Given the description of an element on the screen output the (x, y) to click on. 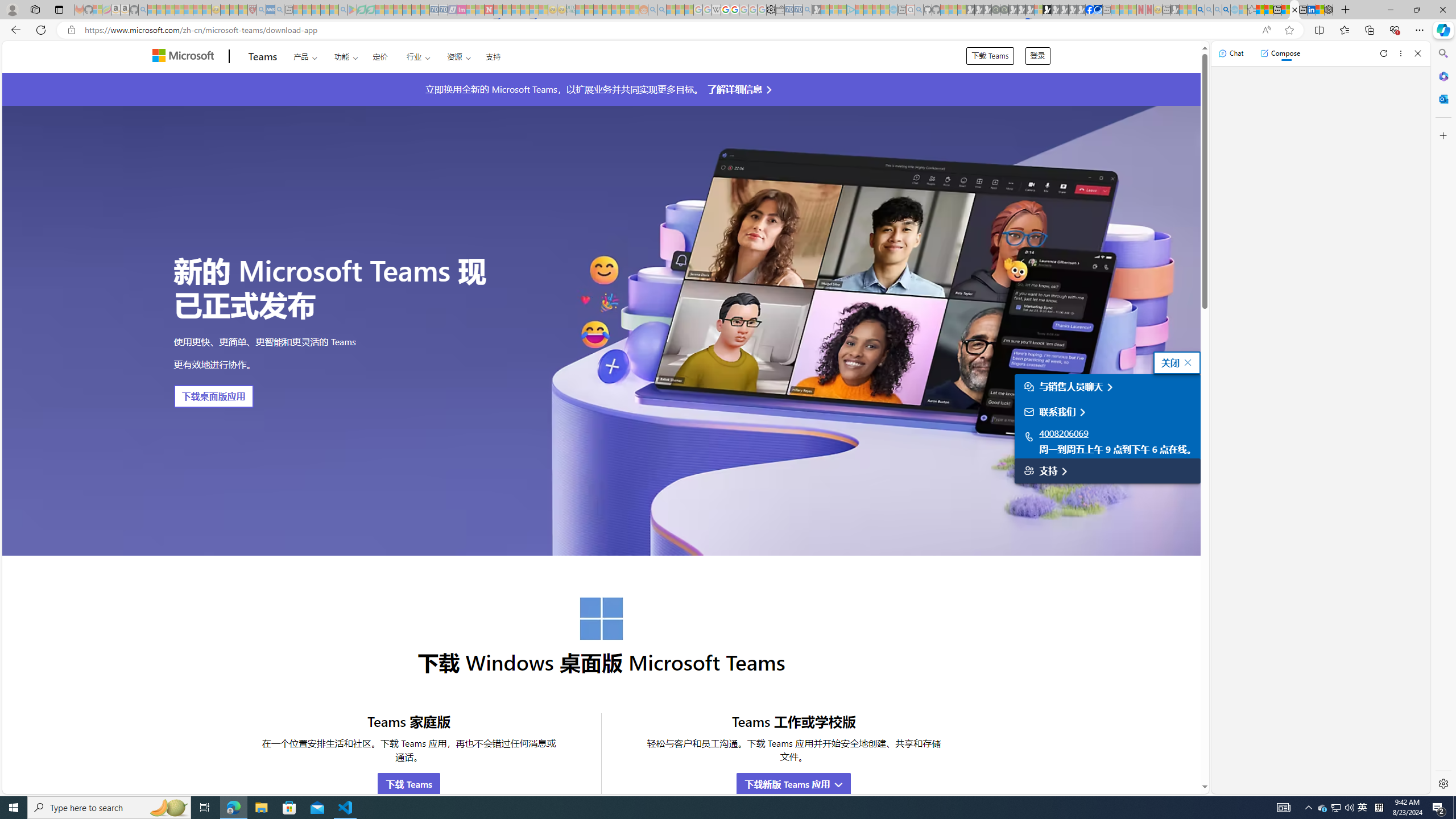
MSN - Sleeping (1174, 9)
Bing AI - Search (1200, 9)
Target page - Wikipedia - Sleeping (716, 9)
